Given the description of an element on the screen output the (x, y) to click on. 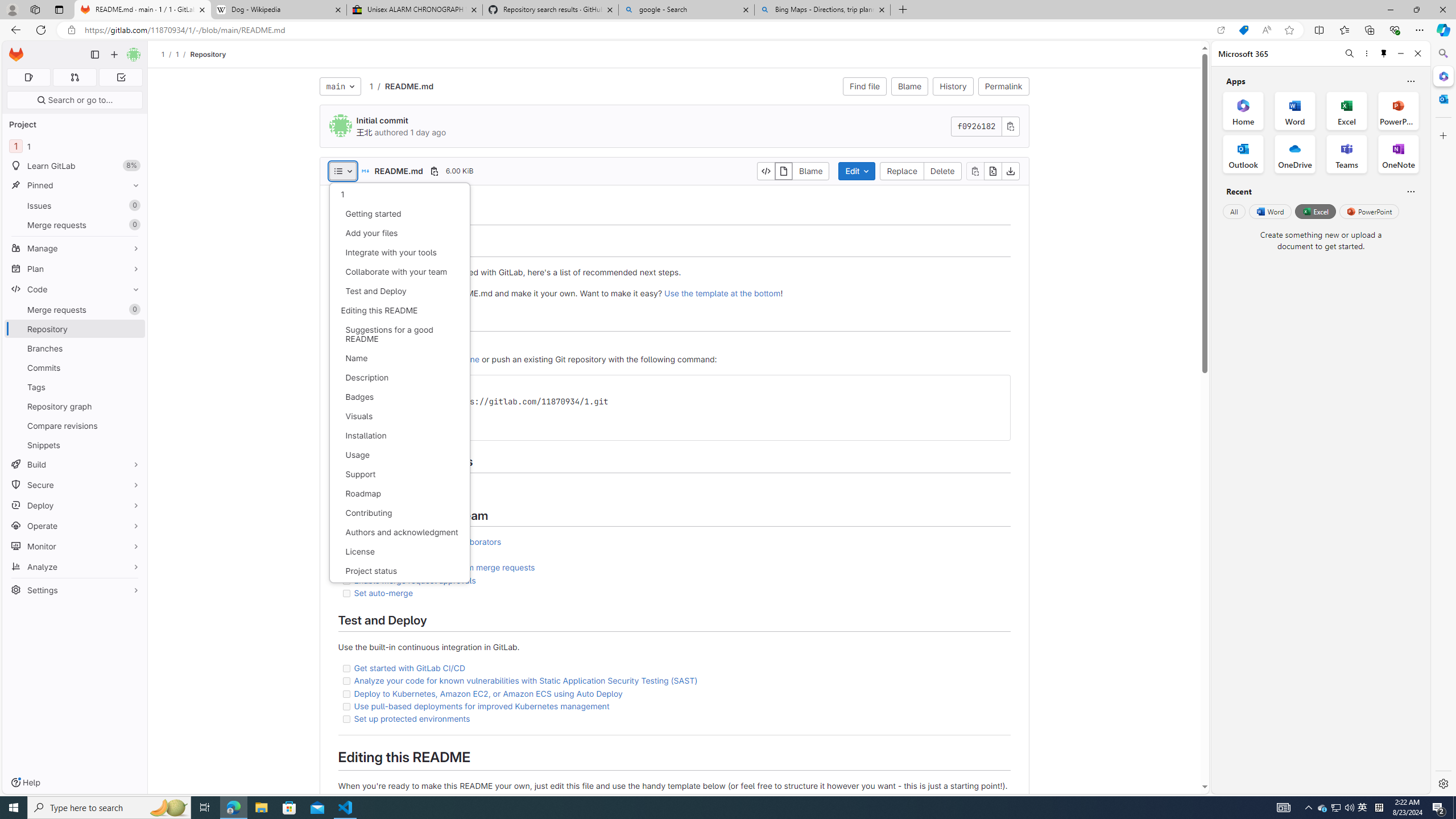
Roadmap (399, 493)
Suggestions for a good README (399, 334)
Enable merge request approvals (414, 579)
Build (74, 464)
Plan (74, 268)
Repository (207, 53)
Primary navigation sidebar (94, 54)
Support (399, 474)
Name (399, 357)
Getting started (399, 213)
